Given the description of an element on the screen output the (x, y) to click on. 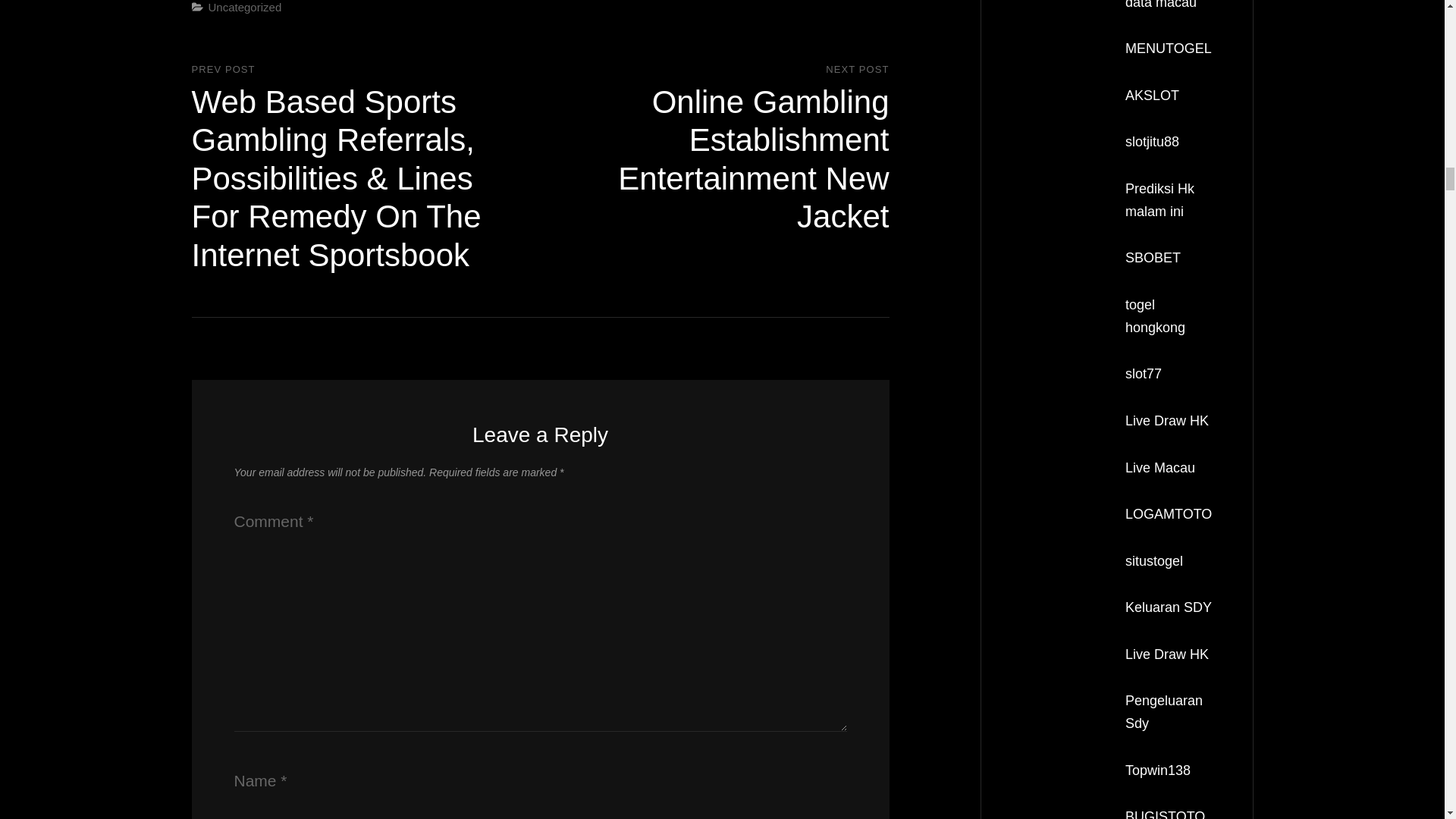
Uncategorized (244, 6)
